Given the description of an element on the screen output the (x, y) to click on. 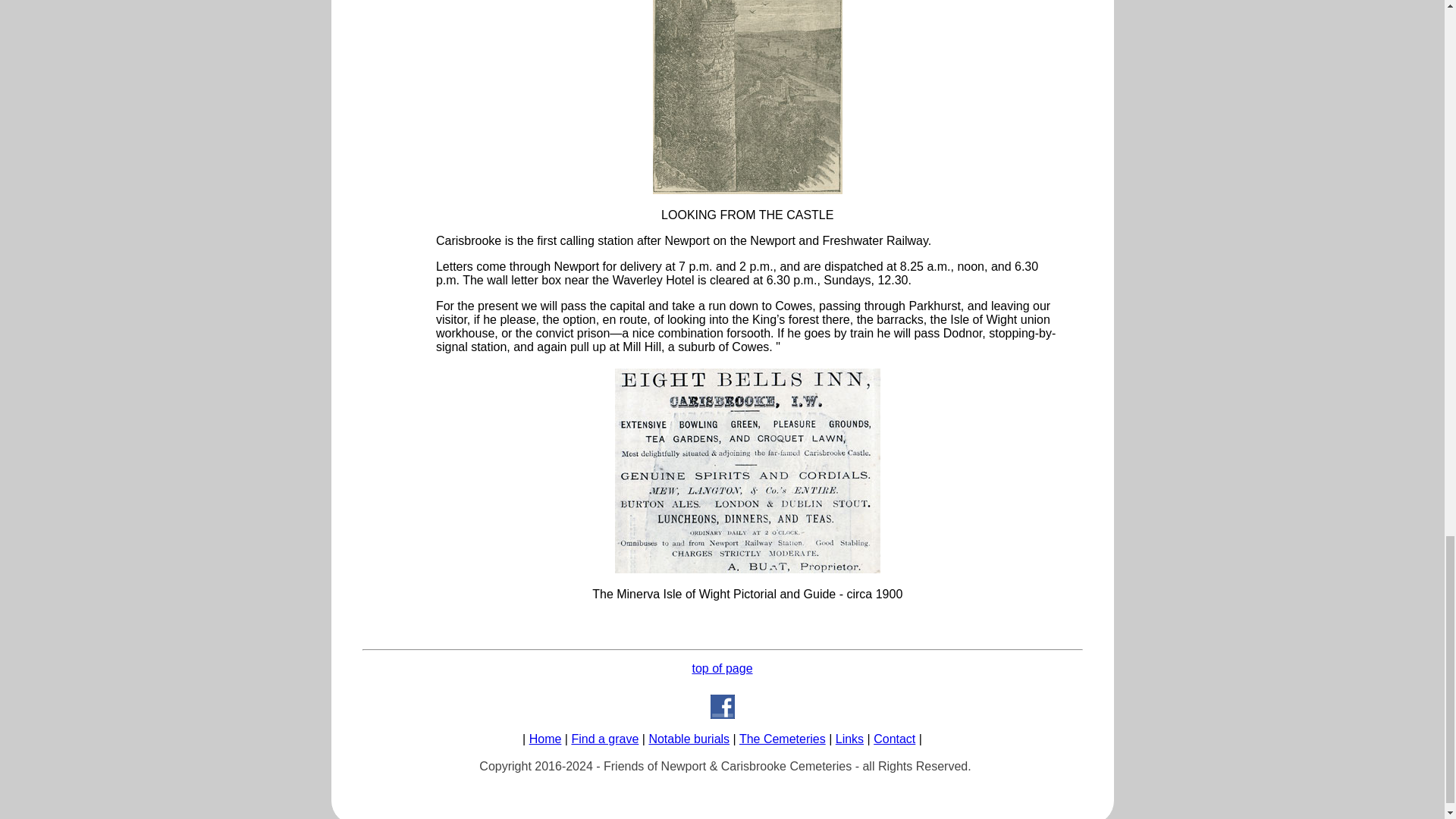
The Cemeteries (782, 738)
Join us on facebook (721, 706)
Notable burials (688, 738)
Links (849, 738)
Find a grave (604, 738)
Home (545, 738)
top of page (721, 667)
